Given the description of an element on the screen output the (x, y) to click on. 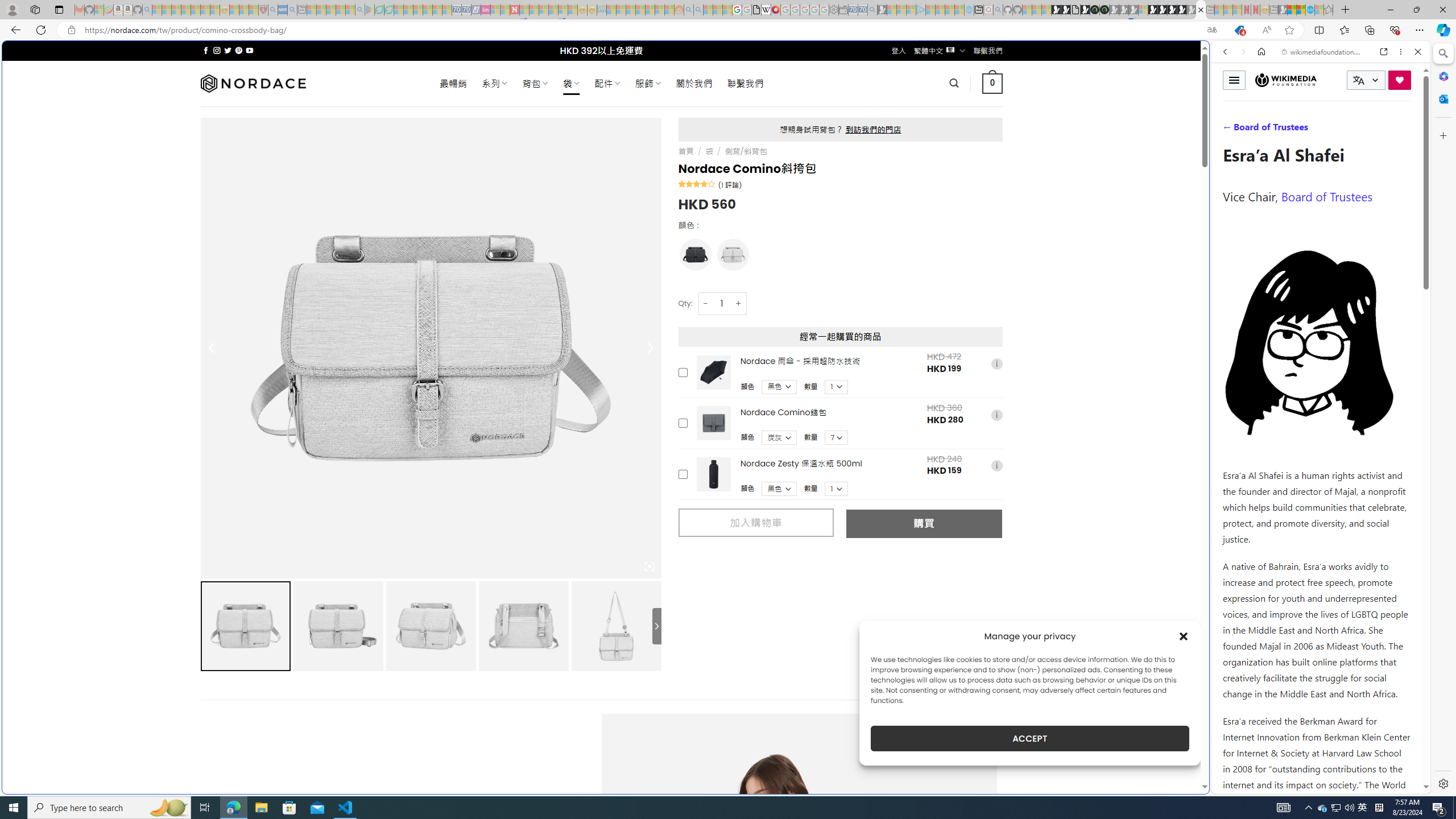
Close split screen (1208, 57)
MediaWiki (774, 9)
Jobs - lastminute.com Investor Portal - Sleeping (485, 9)
CURRENT LANGUAGE: (1366, 80)
